Given the description of an element on the screen output the (x, y) to click on. 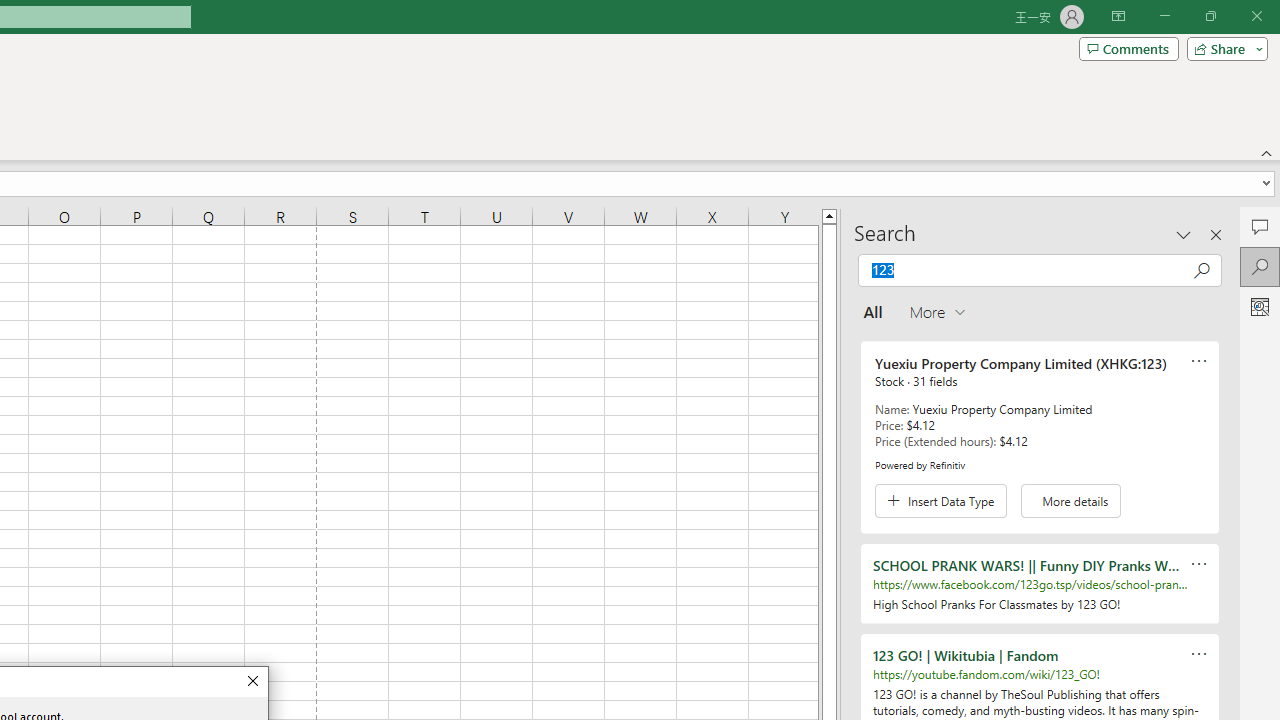
Restore Down (1210, 16)
Comments (1128, 48)
Minimize (1164, 16)
Share (1223, 48)
Task Pane Options (1183, 234)
Analyze Data (1260, 306)
Line up (829, 215)
Comments (1260, 226)
Ribbon Display Options (1118, 16)
Close pane (1215, 234)
Search (1260, 266)
Close (251, 681)
Collapse the Ribbon (1267, 152)
